Given the description of an element on the screen output the (x, y) to click on. 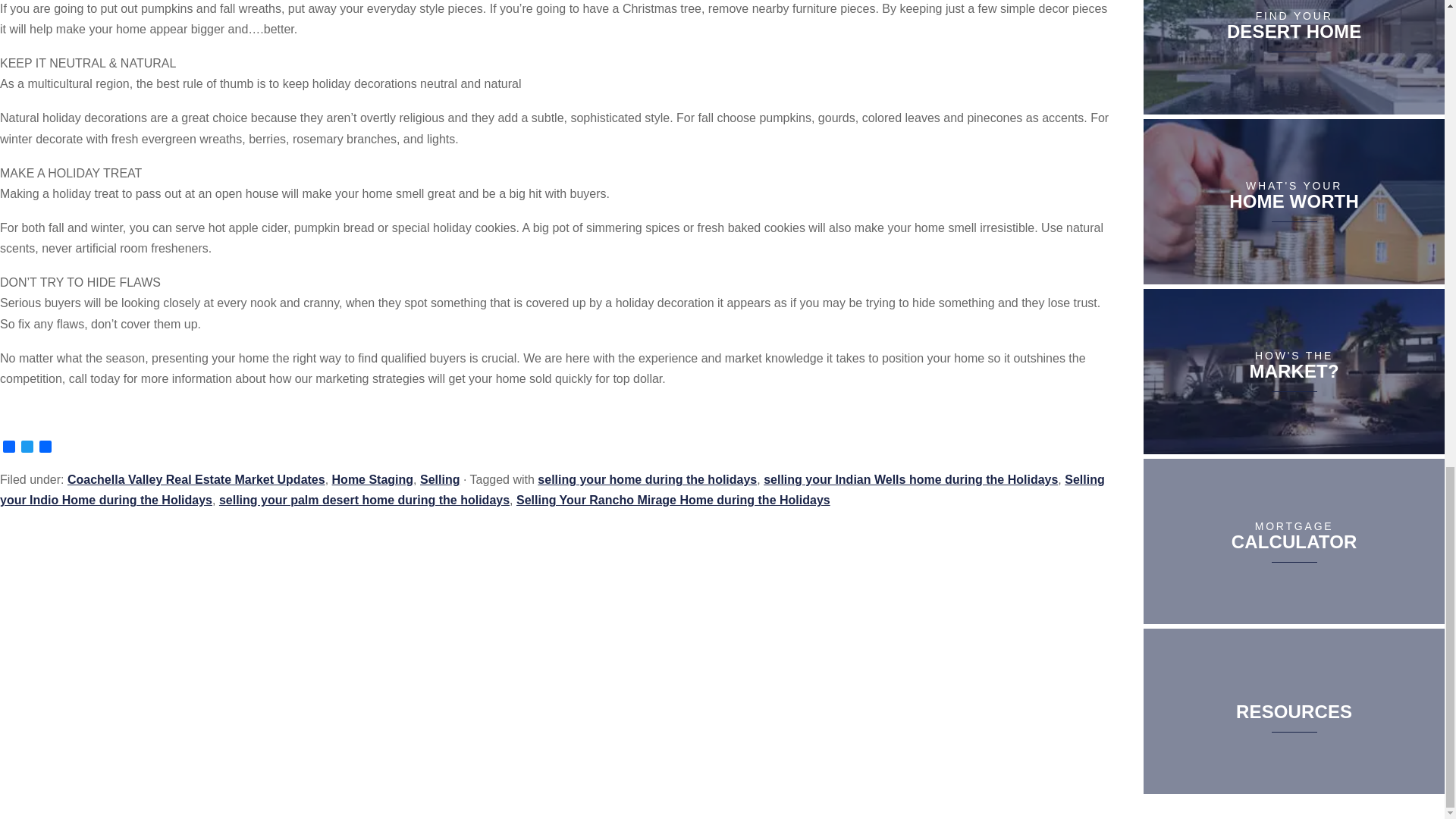
Twitter (26, 447)
Facebook (8, 447)
